Given the description of an element on the screen output the (x, y) to click on. 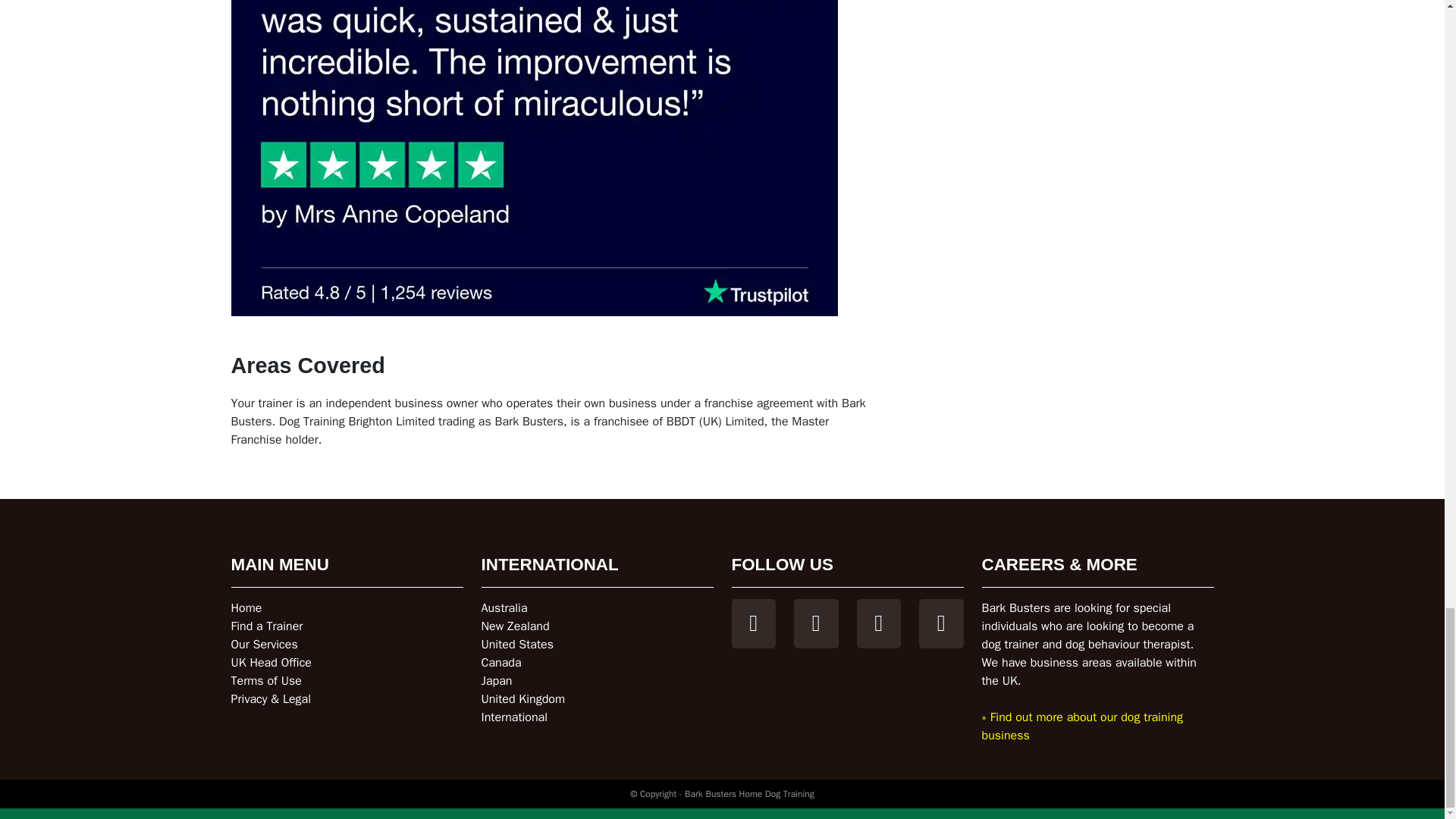
UK Head Office (270, 662)
Find a Trainer (266, 626)
Our Services (263, 644)
Home (246, 607)
